Given the description of an element on the screen output the (x, y) to click on. 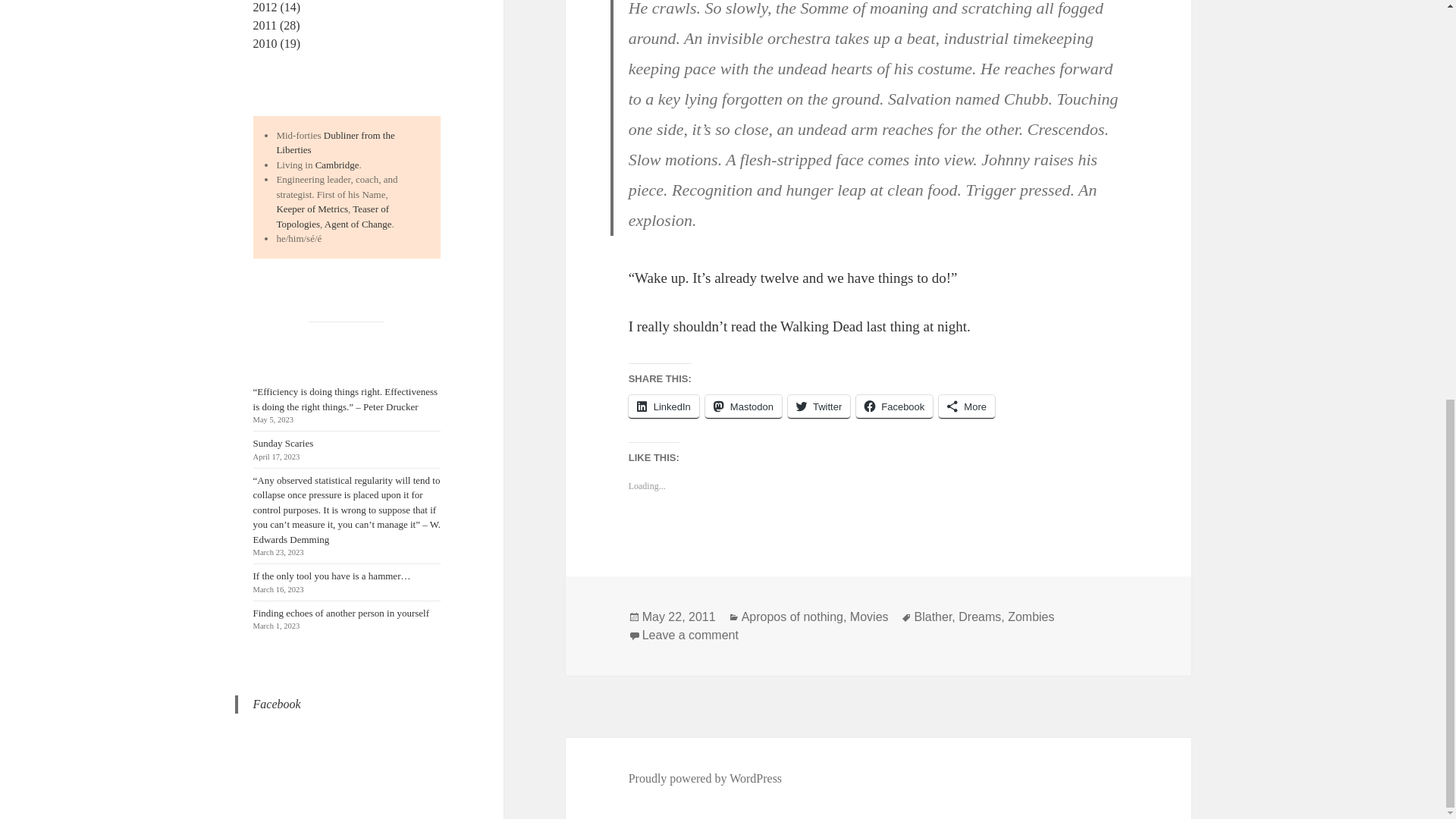
Agent of Change (357, 224)
Sunday Scaries (283, 442)
Click to share on Facebook (894, 406)
Keeper of Metrics (311, 208)
Click to share on Mastodon (742, 406)
LinkedIn (663, 406)
Teaser of Topologies (332, 216)
Mastodon (742, 406)
Click to share on LinkedIn (663, 406)
Facebook (277, 703)
